Given the description of an element on the screen output the (x, y) to click on. 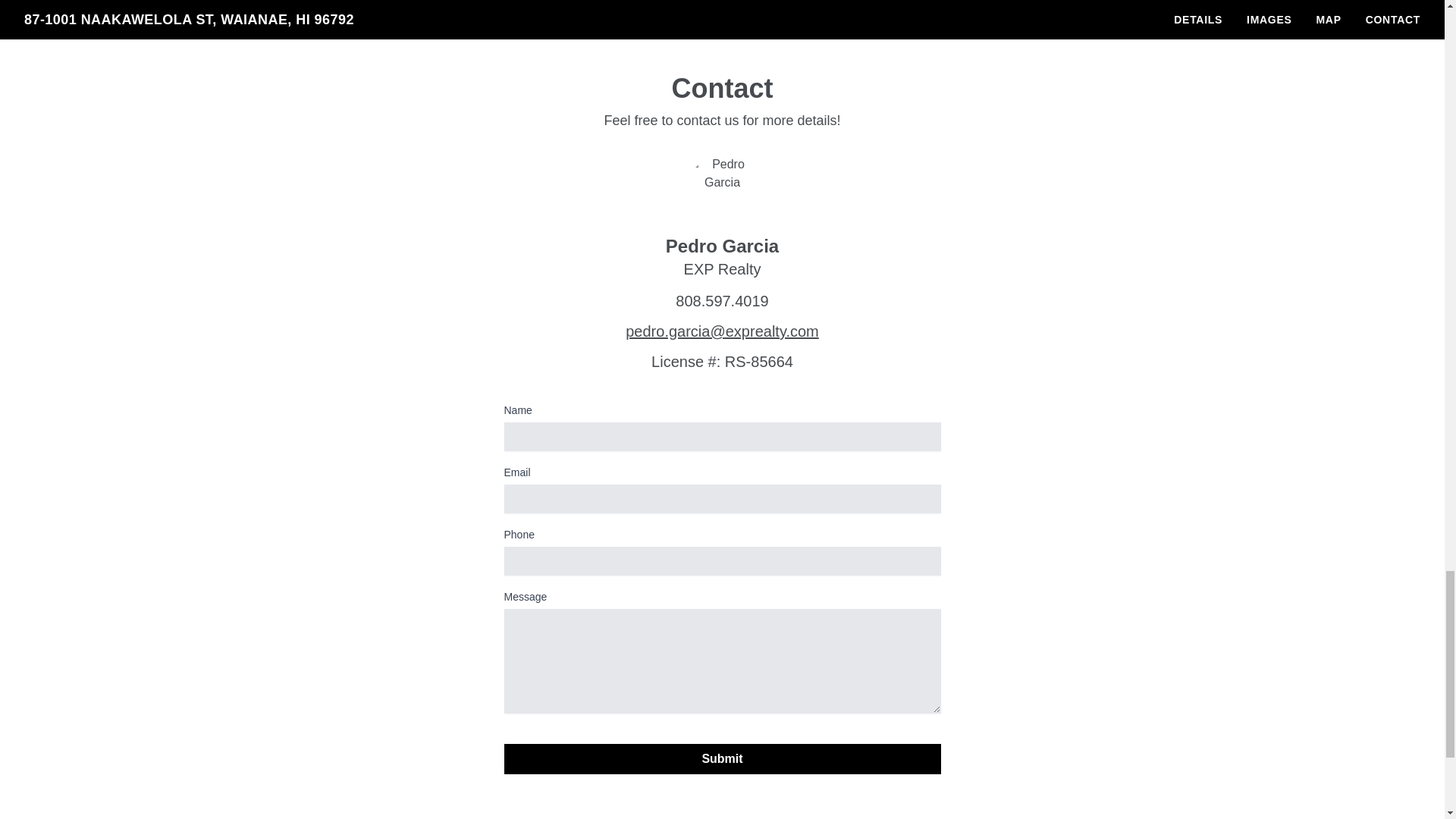
Email Pedro Garcia (721, 331)
Phone Pedro Garcia (721, 300)
